Given the description of an element on the screen output the (x, y) to click on. 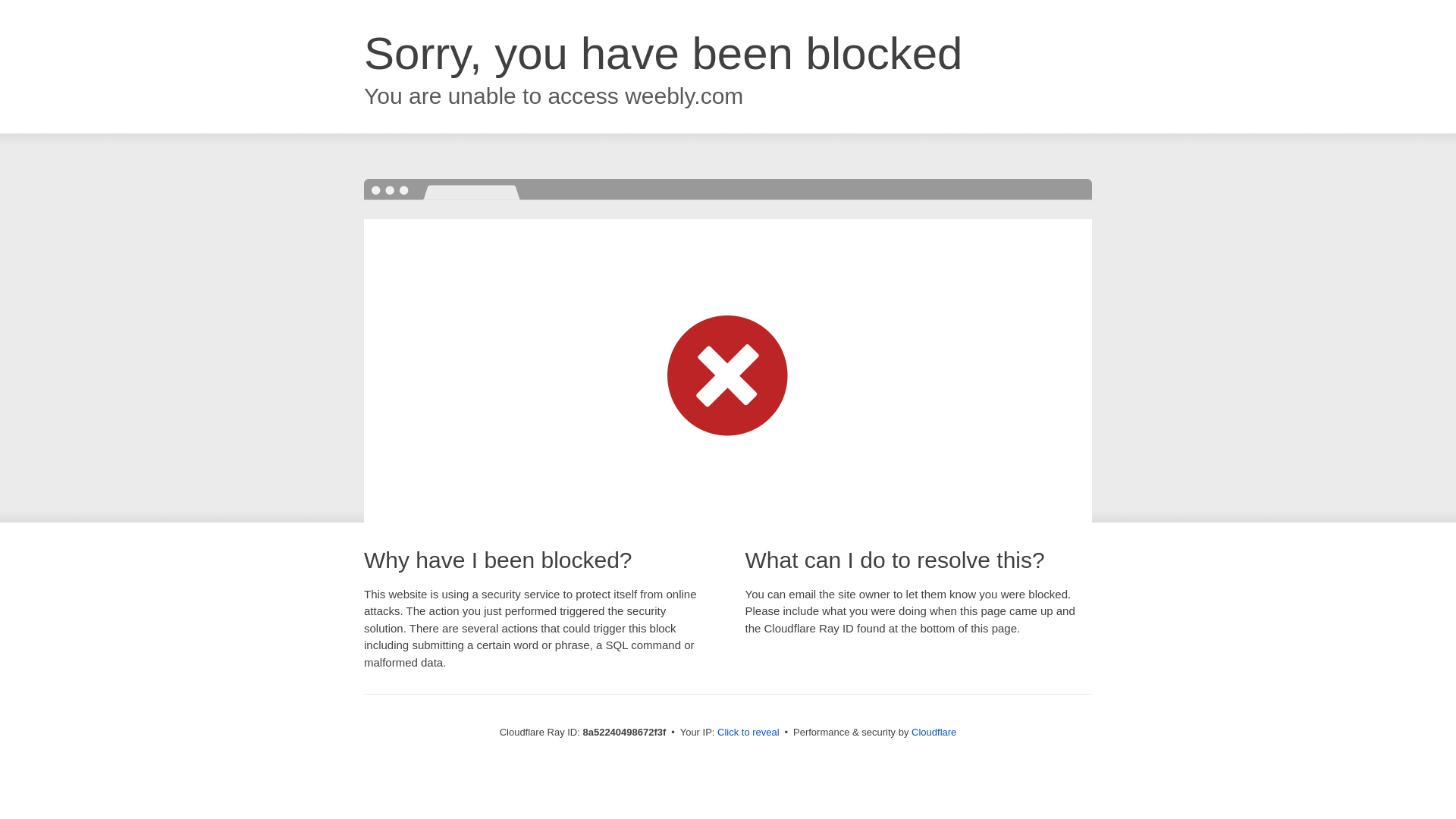
Click to reveal (747, 732)
Cloudflare (933, 731)
